Given the description of an element on the screen output the (x, y) to click on. 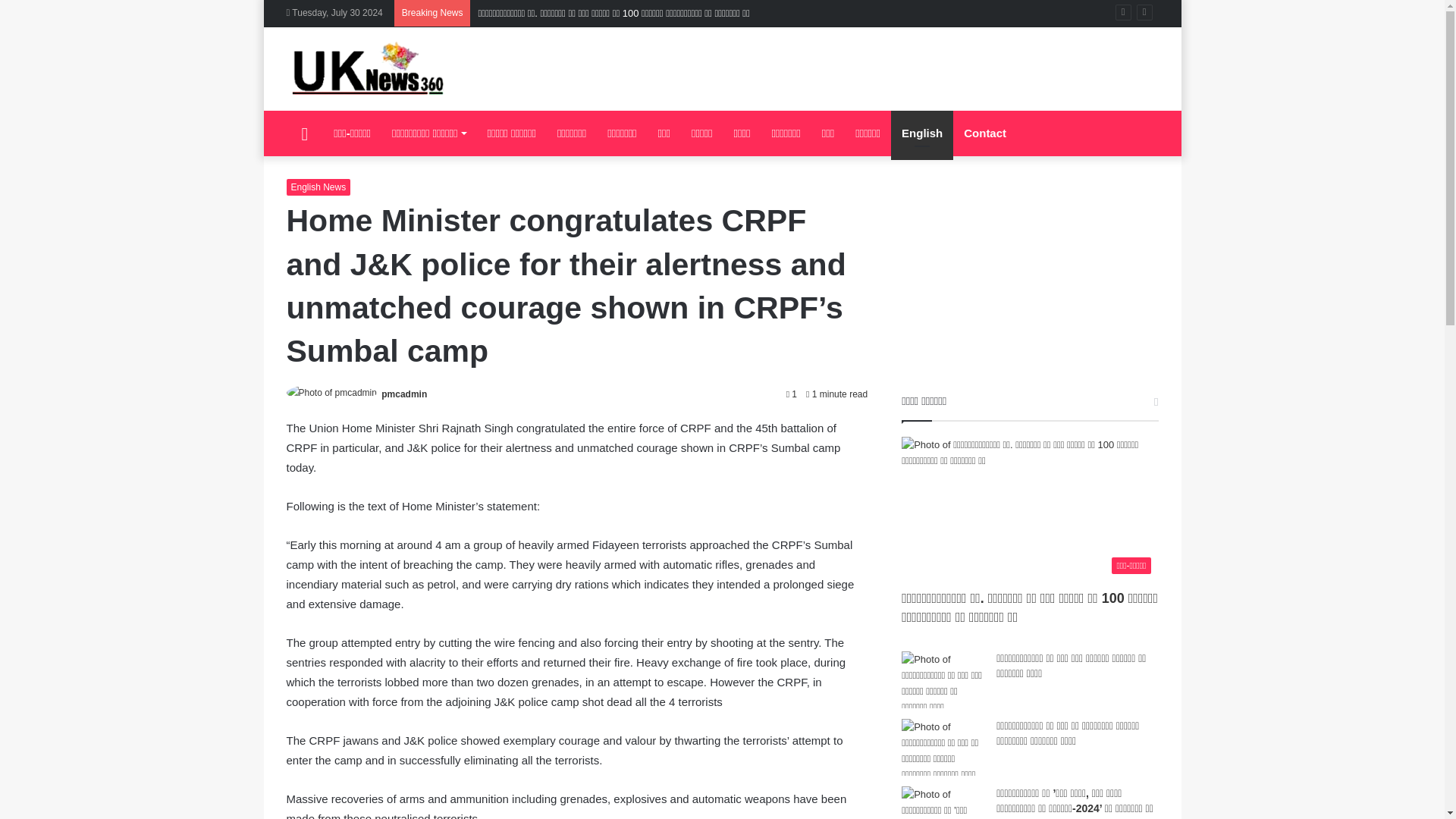
pmcadmin (403, 394)
Ek Sal Nayi Misal (1029, 286)
UK News 360 (367, 68)
Contact (984, 133)
English News (318, 187)
pmcadmin (403, 394)
English (922, 133)
